Given the description of an element on the screen output the (x, y) to click on. 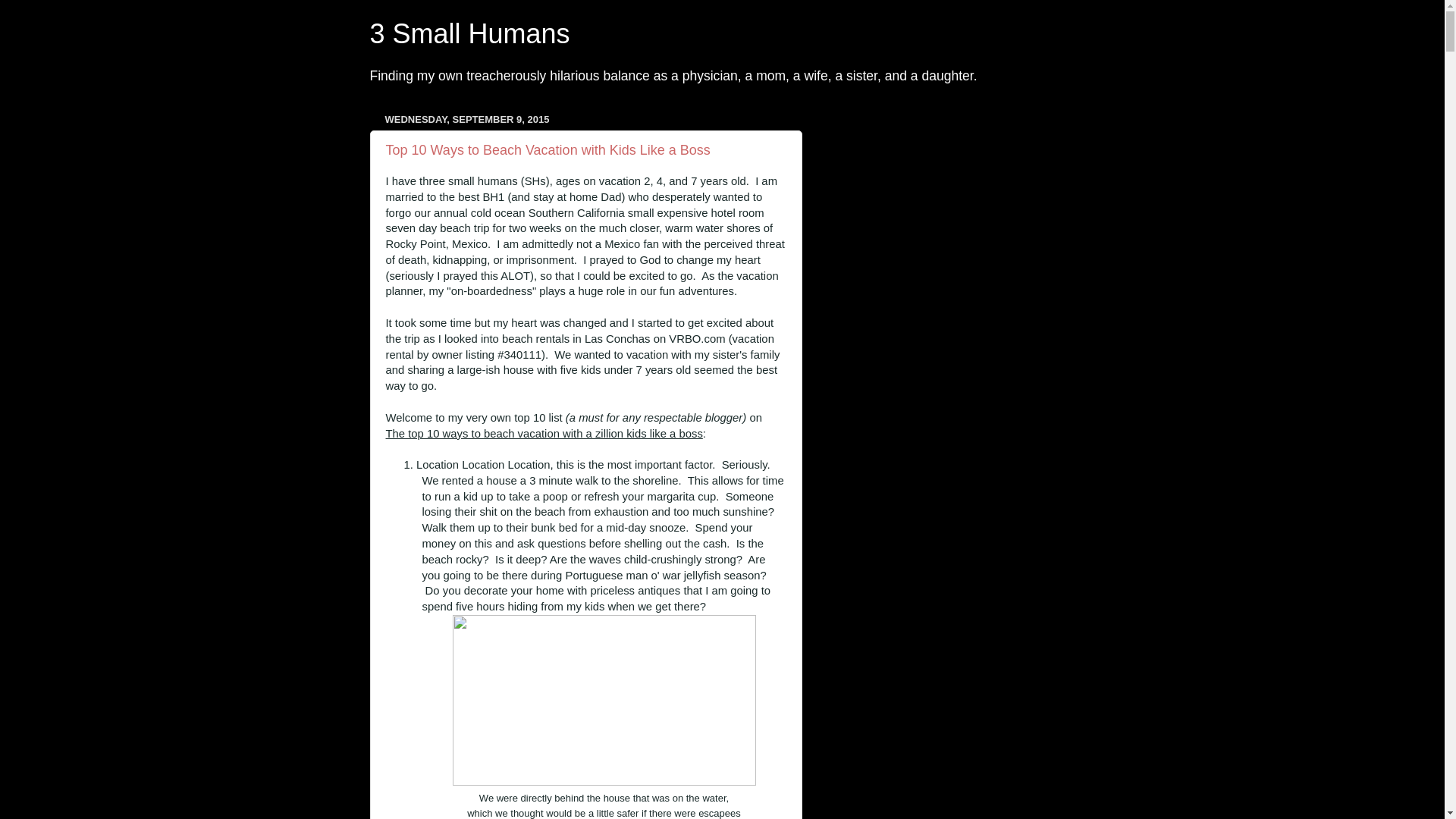
Top 10 Ways to Beach Vacation with Kids Like a Boss Element type: text (547, 149)
3 Small Humans Element type: text (470, 33)
